Given the description of an element on the screen output the (x, y) to click on. 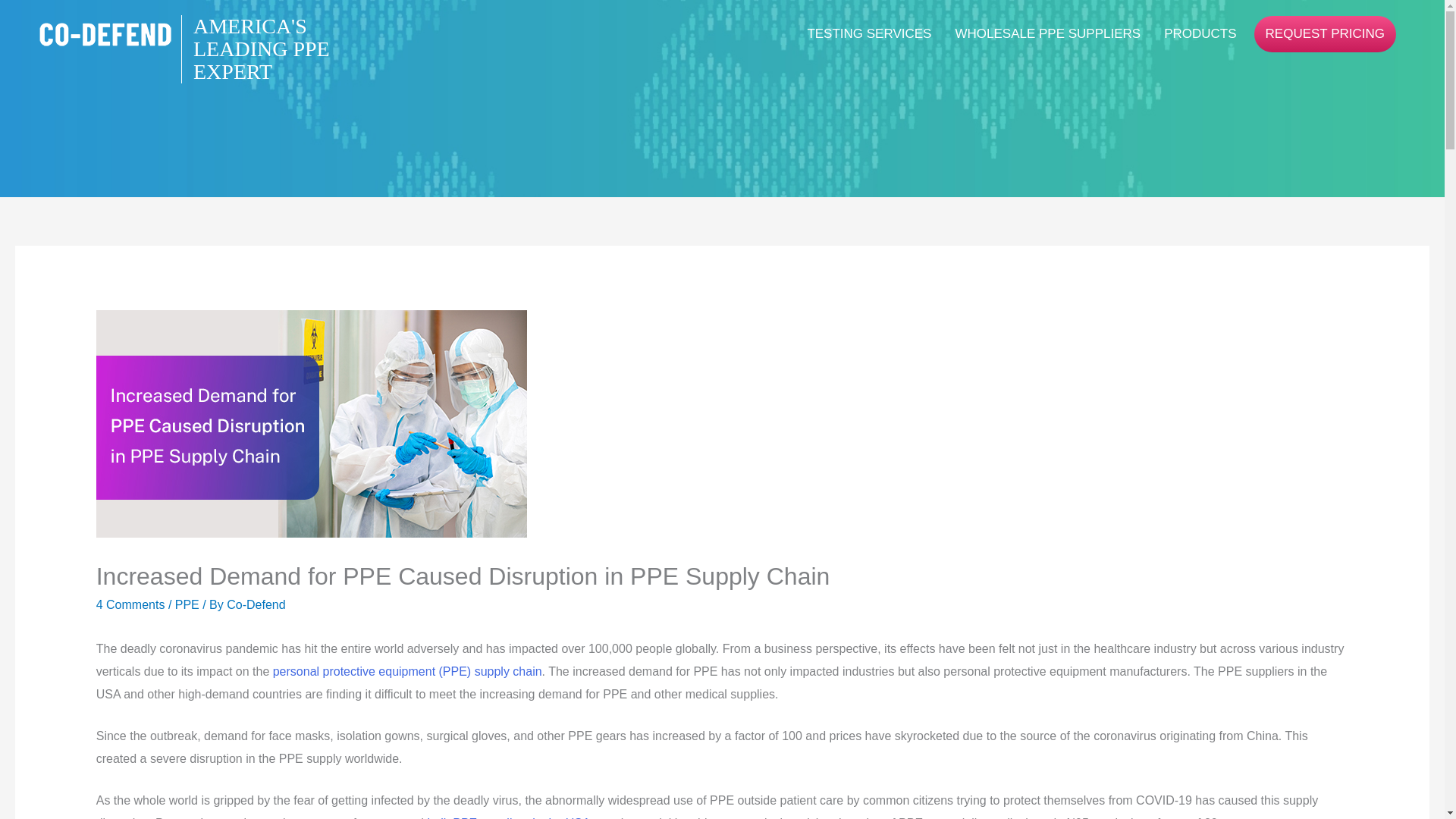
Co-Defend (256, 604)
REQUEST PRICING (1324, 33)
PPE (186, 604)
4 Comments (130, 604)
AMERICA'S LEADING PPE EXPERT (108, 34)
bulk PPE suppliers in the USA (507, 817)
View all posts by Co-Defend (256, 604)
PRODUCTS (1199, 33)
WHOLESALE PPE SUPPLIERS (1048, 33)
TESTING SERVICES (868, 33)
